Given the description of an element on the screen output the (x, y) to click on. 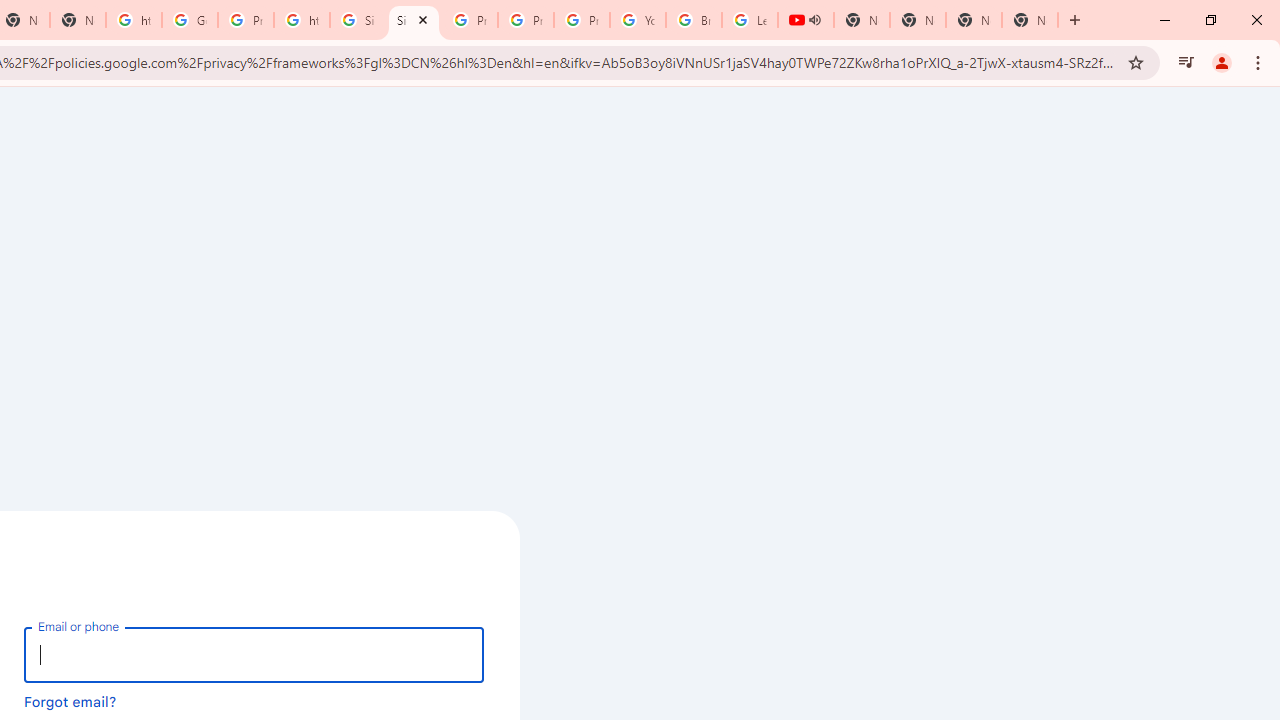
Forgot email? (70, 701)
New Tab (973, 20)
Privacy Help Center - Policies Help (469, 20)
YouTube (637, 20)
